Given the description of an element on the screen output the (x, y) to click on. 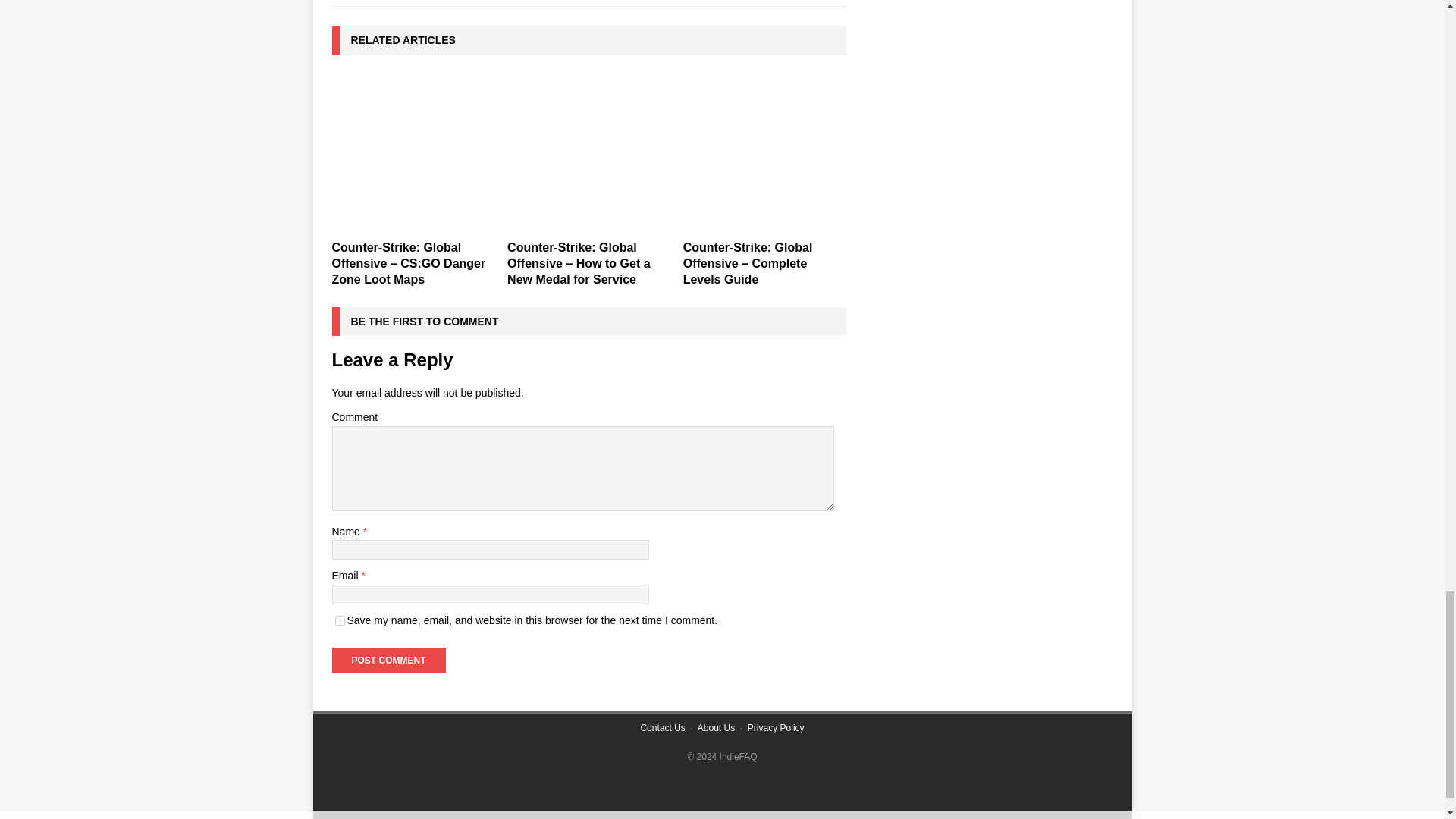
yes (339, 620)
Post Comment (388, 660)
